Given the description of an element on the screen output the (x, y) to click on. 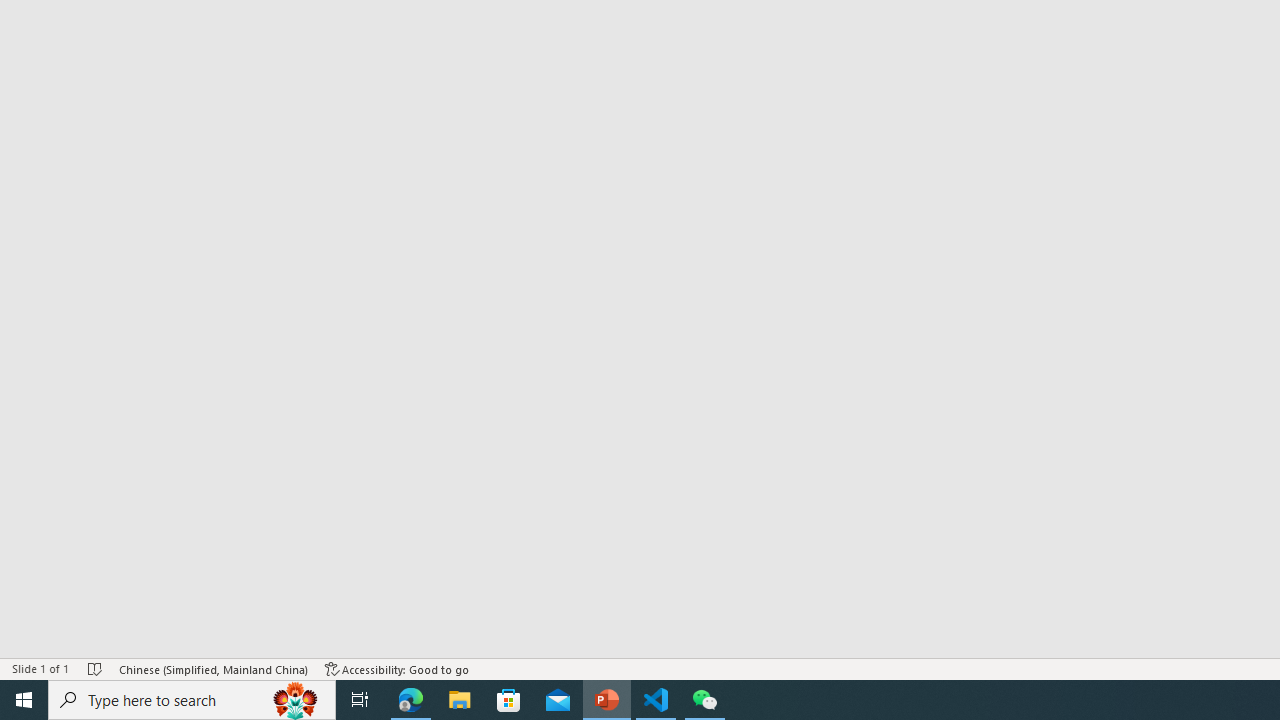
Accessibility Checker Accessibility: Good to go (397, 668)
